Given the description of an element on the screen output the (x, y) to click on. 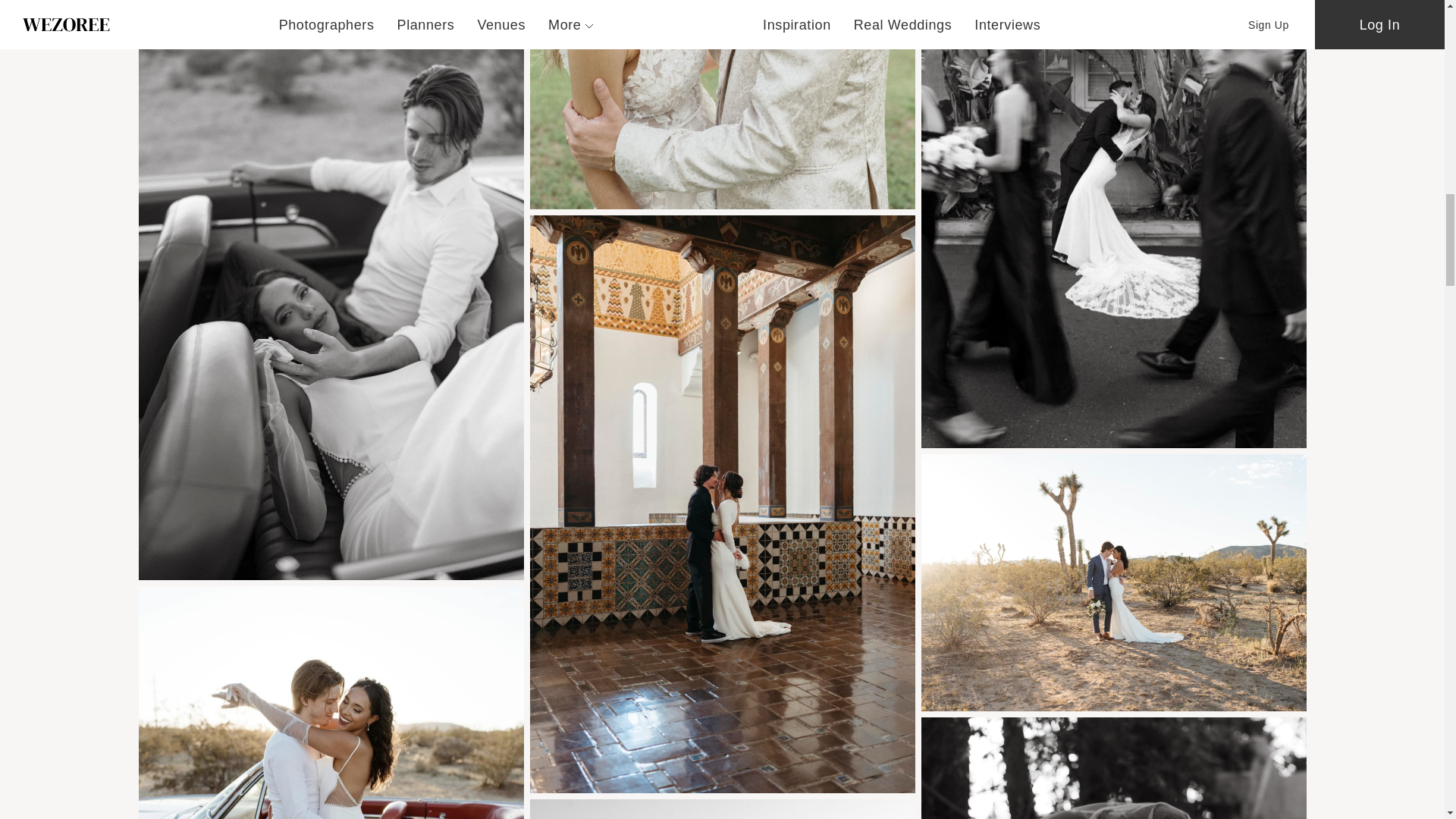
Katheryn Heckmuller Photographer  (721, 104)
undefined (330, 702)
undefined (721, 809)
